Given the description of an element on the screen output the (x, y) to click on. 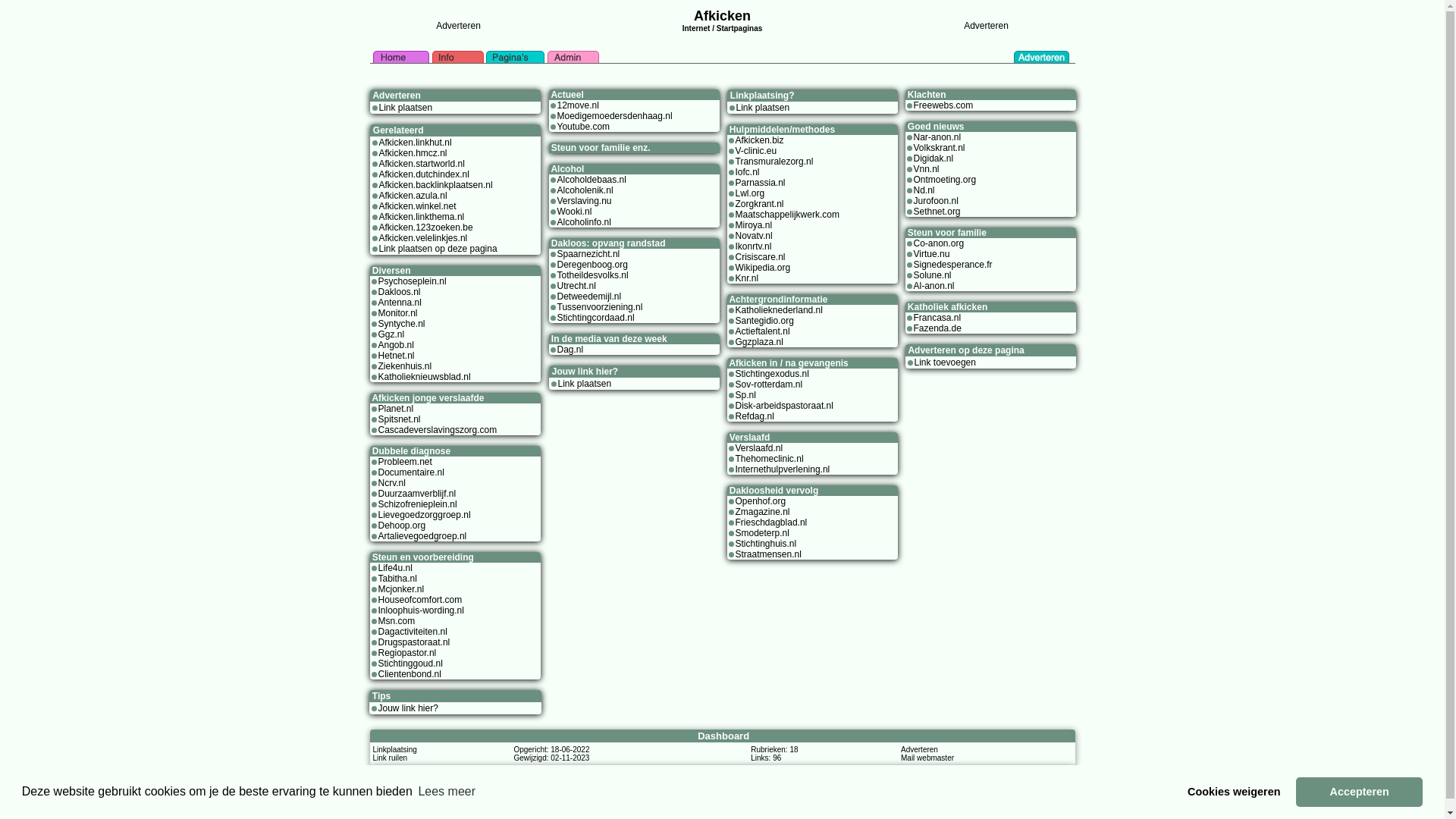
Santegidio.org Element type: text (764, 320)
Nar-anon.nl Element type: text (936, 136)
Ziekenhuis.nl Element type: text (404, 365)
Dakloos.nl Element type: text (398, 291)
Afkicken.dutchindex.nl Element type: text (424, 174)
Cookies weigeren Element type: text (1233, 791)
Inloophuis-wording.nl Element type: text (420, 610)
Alcoholinfo.nl Element type: text (583, 221)
Clientenbond.nl Element type: text (408, 673)
Katholieknieuwsblad.nl Element type: text (423, 376)
123zoeken.be Element type: text (695, 770)
Linkplaatsing Element type: text (395, 748)
Afkicken.biz Element type: text (759, 139)
Houseofcomfort.com Element type: text (419, 599)
Iofc.nl Element type: text (747, 171)
Dagactiviteiten.nl Element type: text (411, 631)
Youtube.com Element type: text (582, 126)
Antenna.nl Element type: text (398, 302)
Schizofrenieplein.nl Element type: text (416, 503)
Afkicken.hmcz.nl Element type: text (413, 152)
Thehomeclinic.nl Element type: text (769, 458)
Psychoseplein.nl Element type: text (411, 281)
Mcjonker.nl Element type: text (400, 588)
Katholieknederland.nl Element type: text (778, 309)
Hetnet.nl Element type: text (395, 355)
Lwl.org Element type: text (750, 193)
Drugspastoraat.nl Element type: text (413, 642)
Vnn.nl Element type: text (925, 168)
Mail webmaster Element type: text (926, 757)
Maatschappelijkwerk.com Element type: text (787, 214)
Ggz.nl Element type: text (390, 334)
Sov-rotterdam.nl Element type: text (769, 384)
Solune.nl Element type: text (931, 274)
Planet.nl Element type: text (395, 408)
Stichtingexodus.nl Element type: text (772, 373)
Stichtingcordaad.nl Element type: text (594, 317)
Alcoholdebaas.nl Element type: text (590, 179)
Monitor.nl Element type: text (397, 312)
Afkicken.winkel.net Element type: text (417, 205)
Spitsnet.nl Element type: text (398, 419)
Ncrv.nl Element type: text (390, 482)
12move.nl Element type: text (577, 105)
Link plaatsen op deze pagina Element type: text (438, 248)
Verslaafd.nl Element type: text (759, 447)
Novatv.nl Element type: text (753, 235)
Afkicken.123zoeken.be Element type: text (426, 227)
Freewebs.com Element type: text (942, 105)
Ontmoeting.org Element type: text (944, 179)
Syntyche.nl Element type: text (400, 323)
Duurzaamverblijf.nl Element type: text (416, 493)
Afkicken.azula.nl Element type: text (413, 195)
Utrecht.nl Element type: text (575, 285)
Detweedemijl.nl Element type: text (588, 296)
Verslaving.nu Element type: text (583, 200)
Afkicken.linkthema.nl Element type: text (421, 216)
Internethulpverlening.nl Element type: text (782, 469)
Digidak.nl Element type: text (933, 158)
Wikipedia.org Element type: text (762, 267)
Virtue.nu Element type: text (931, 253)
Francasa.nl Element type: text (936, 317)
Sethnet.org Element type: text (936, 211)
Zmagazine.nl Element type: text (762, 511)
Co-anon.org Element type: text (938, 243)
Ikonrtv.nl Element type: text (753, 246)
Straatmensen.nl Element type: text (768, 554)
Link plaatsen Element type: text (584, 383)
Actieftalent.nl Element type: text (762, 331)
Adverteren Element type: text (458, 25)
Link plaatsen Element type: text (762, 107)
Volkskrant.nl Element type: text (938, 147)
Crisiscare.nl Element type: text (760, 256)
Miroya.nl Element type: text (753, 224)
Afkicken.linkhut.nl Element type: text (415, 142)
Angob.nl Element type: text (395, 344)
Jouw link hier? Element type: text (407, 707)
Link toevoegen Element type: text (944, 362)
Afkicken.backlinkplaatsen.nl Element type: text (435, 184)
Msn.com Element type: text (395, 620)
Afkicken.velelinkjes.nl Element type: text (423, 237)
Totheildesvolks.nl Element type: text (591, 274)
Afkicken.startworld.nl Element type: text (421, 163)
Al-anon.nl Element type: text (933, 285)
Transmuralezorg.nl Element type: text (774, 161)
Wooki.nl Element type: text (573, 211)
Frieschdagblad.nl Element type: text (771, 522)
Tussenvoorziening.nl Element type: text (599, 306)
Accepteren Element type: text (1358, 791)
Smodeterp.nl Element type: text (762, 532)
Adverteren Element type: text (919, 748)
Moedigemoedersdenhaag.nl Element type: text (613, 115)
Life4u.nl Element type: text (394, 567)
Parnassia.nl Element type: text (760, 182)
Dehoop.org Element type: text (401, 525)
Link plaatsen Element type: text (406, 107)
Jurofoon.nl Element type: text (935, 200)
Stichtinghuis.nl Element type: text (766, 543)
Openhof.org Element type: text (760, 500)
Lievegoedzorggroep.nl Element type: text (423, 514)
Probleem.net Element type: text (404, 461)
Internet Element type: text (696, 26)
Stichtinggoud.nl Element type: text (409, 663)
V-clinic.eu Element type: text (756, 150)
Tabitha.nl Element type: text (396, 578)
Ggzplaza.nl Element type: text (759, 341)
Artalievegoedgroep.nl Element type: text (421, 535)
Lees meer Element type: text (446, 791)
Fazenda.de Element type: text (936, 328)
Cascadeverslavingszorg.com Element type: text (436, 429)
Dag.nl Element type: text (569, 349)
Link ruilen Element type: text (390, 757)
Documentaire.nl Element type: text (410, 472)
Afkicken Element type: text (721, 15)
Startpaginas Element type: text (739, 28)
Adverteren Element type: text (985, 25)
Disk-arbeidspastoraat.nl Element type: text (784, 405)
Nd.nl Element type: text (923, 190)
Regiopastor.nl Element type: text (406, 652)
Sp.nl Element type: text (745, 394)
Knr.nl Element type: text (747, 278)
Zorgkrant.nl Element type: text (759, 203)
Spaarnezicht.nl Element type: text (587, 253)
Deregenboog.org Element type: text (591, 264)
Alcoholenik.nl Element type: text (584, 190)
Refdag.nl Element type: text (754, 416)
Signedesperance.fr Element type: text (952, 264)
Eigen 123zoeken startpagina Element type: text (776, 770)
